Given the description of an element on the screen output the (x, y) to click on. 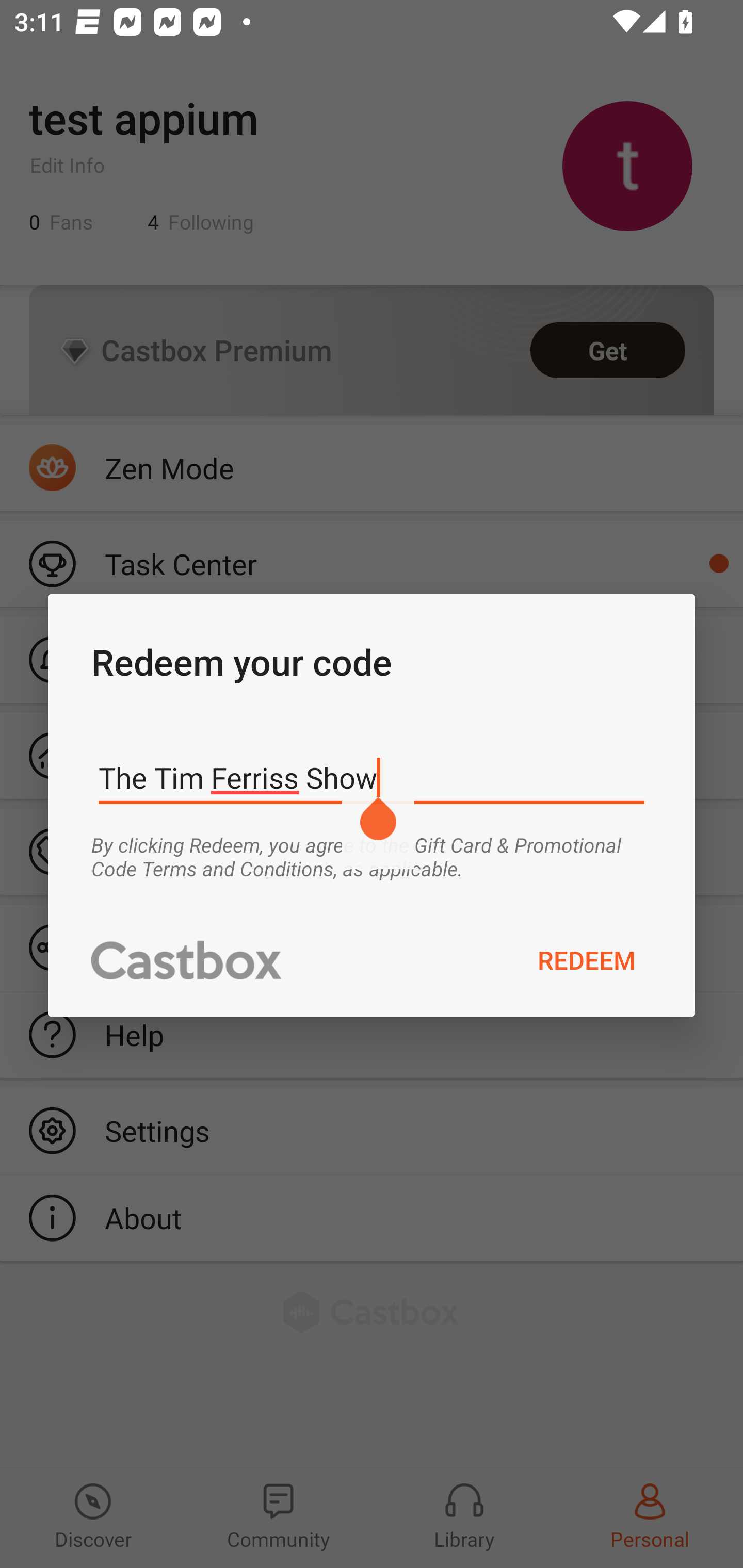
The Tim Ferriss Show (371, 778)
REDEEM (586, 959)
